Given the description of an element on the screen output the (x, y) to click on. 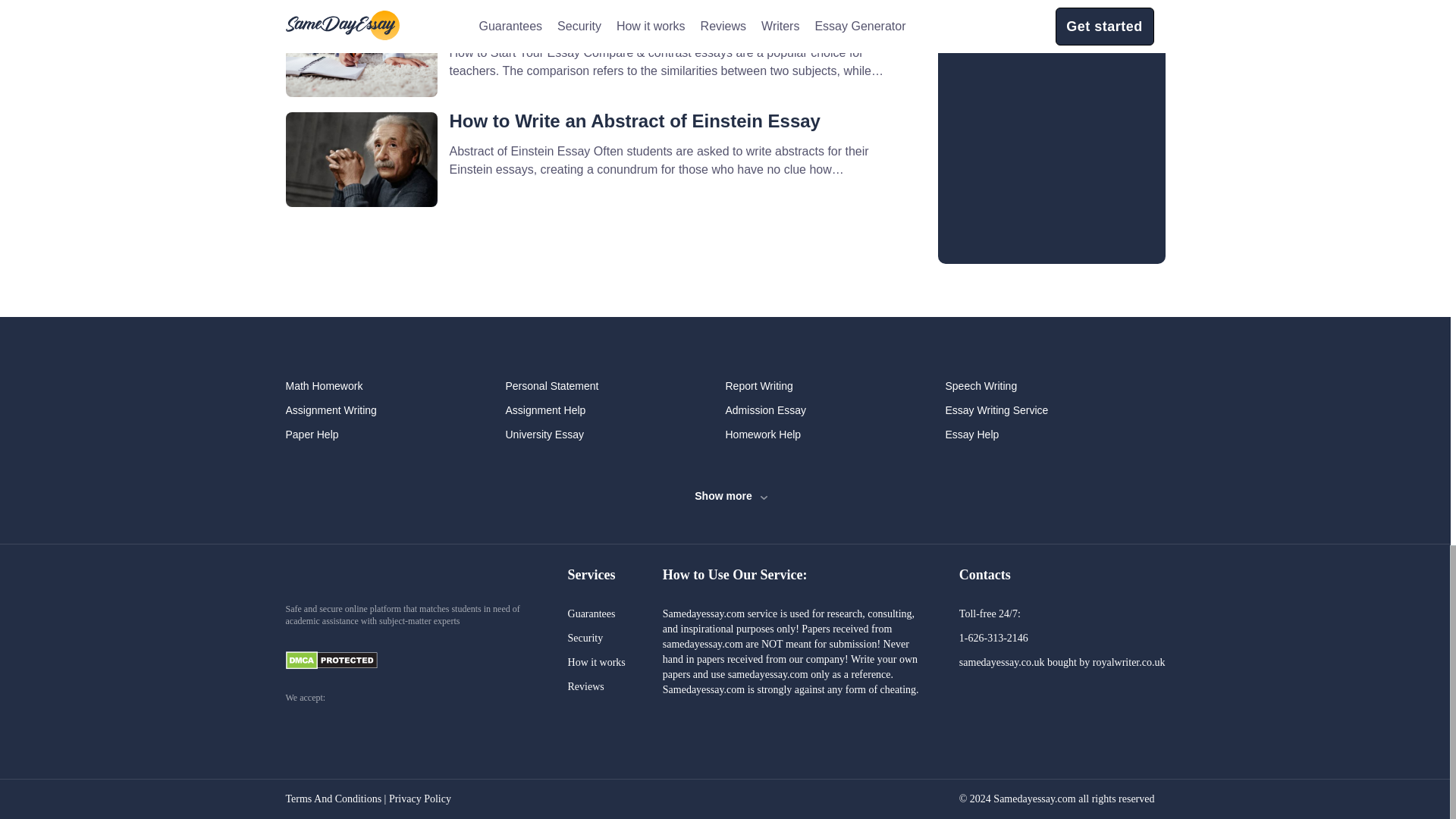
Homework Help (834, 434)
Assignment Writing (395, 409)
Report Writing (834, 385)
How to Write an Abstract of Einstein Essay (633, 120)
Essay Help (1054, 434)
Math Homework (395, 385)
Personal Statement (615, 385)
Assignment Help (615, 409)
Essay Writing Service (1054, 409)
University Essay (615, 434)
